Given the description of an element on the screen output the (x, y) to click on. 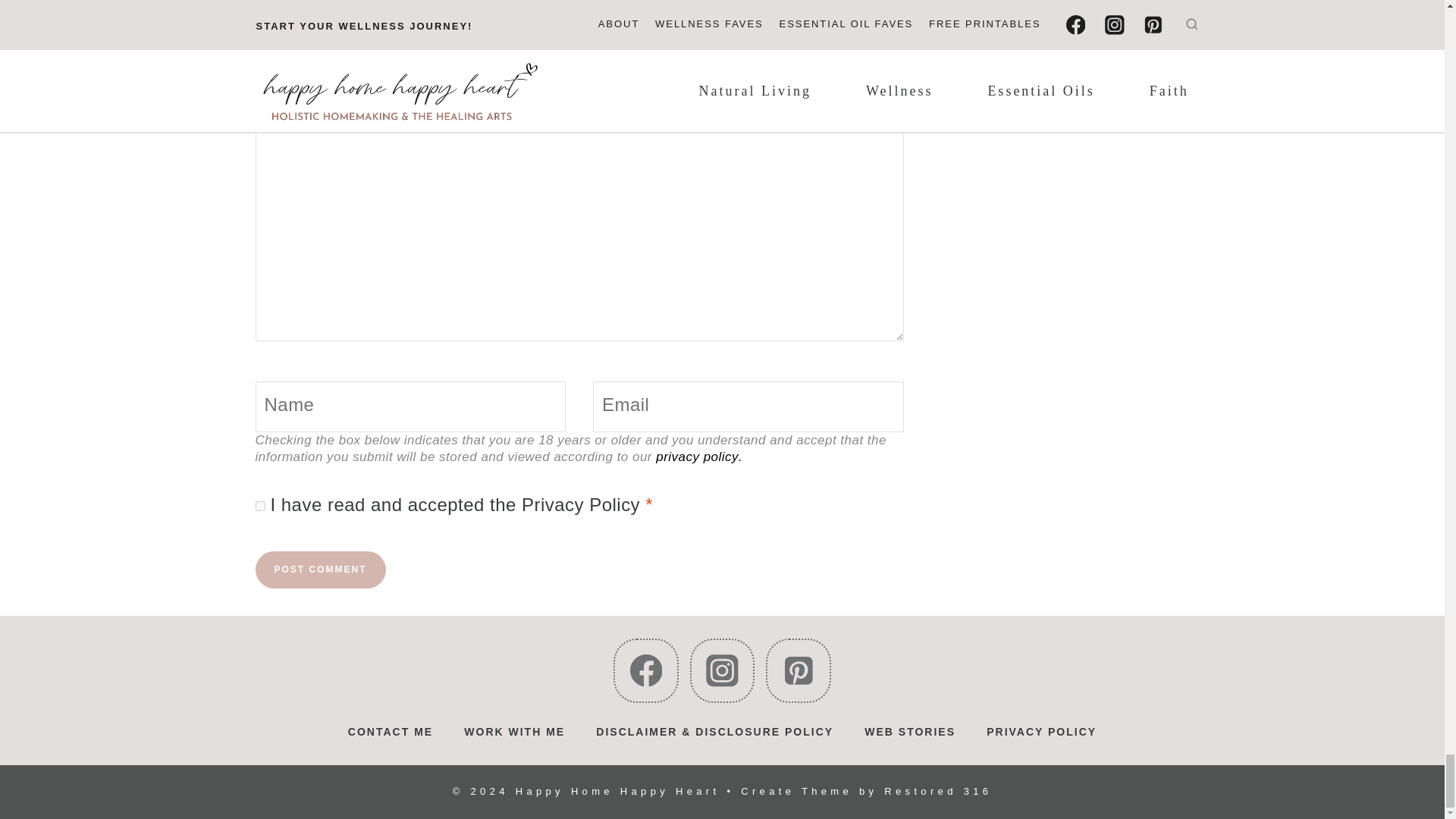
policy-key (259, 506)
Post Comment (319, 569)
